Given the description of an element on the screen output the (x, y) to click on. 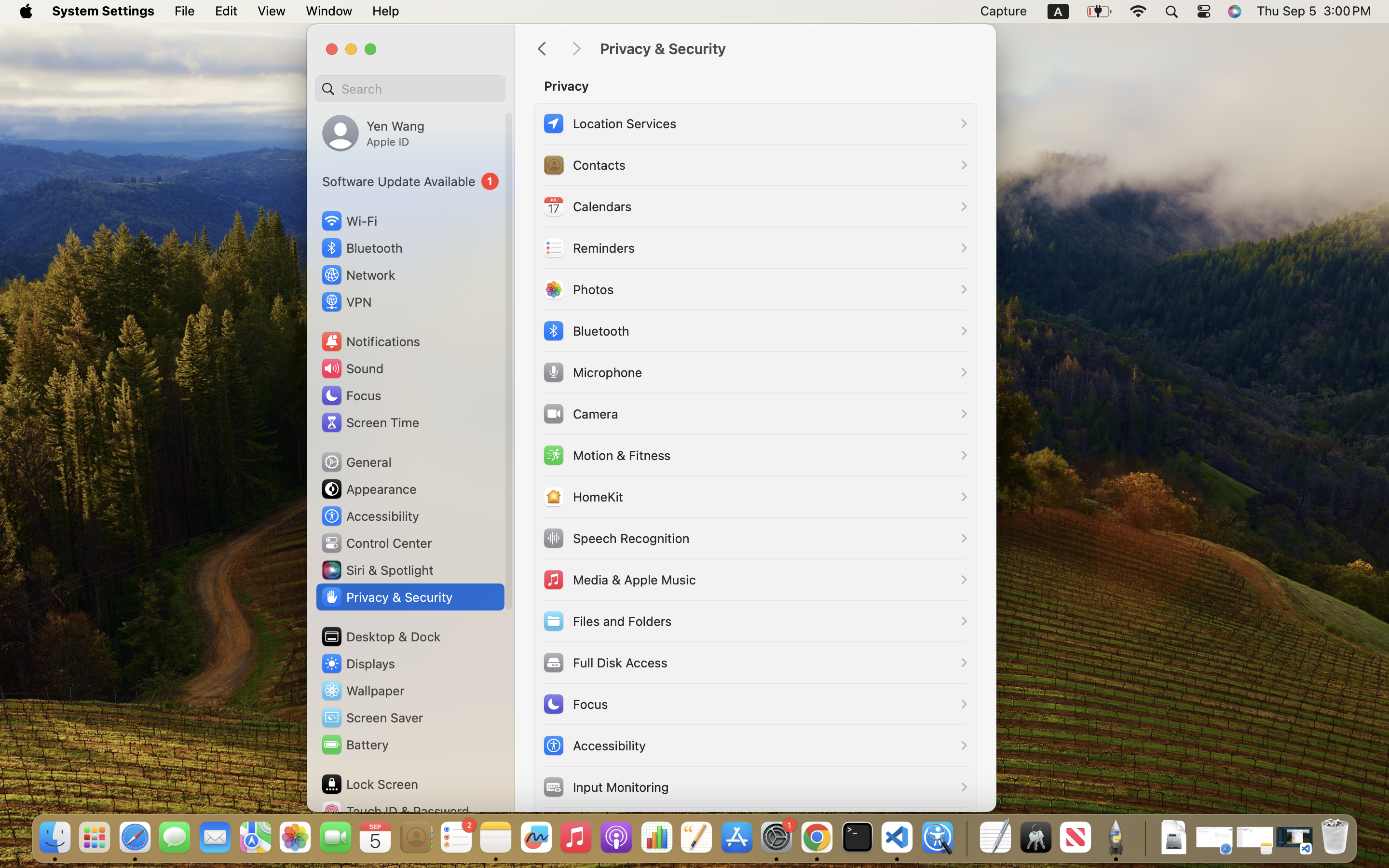
Sound Element type: AXStaticText (351, 367)
Lock Screen Element type: AXStaticText (369, 783)
Desktop & Dock Element type: AXStaticText (380, 636)
Privacy & Security Element type: AXStaticText (788, 49)
